Given the description of an element on the screen output the (x, y) to click on. 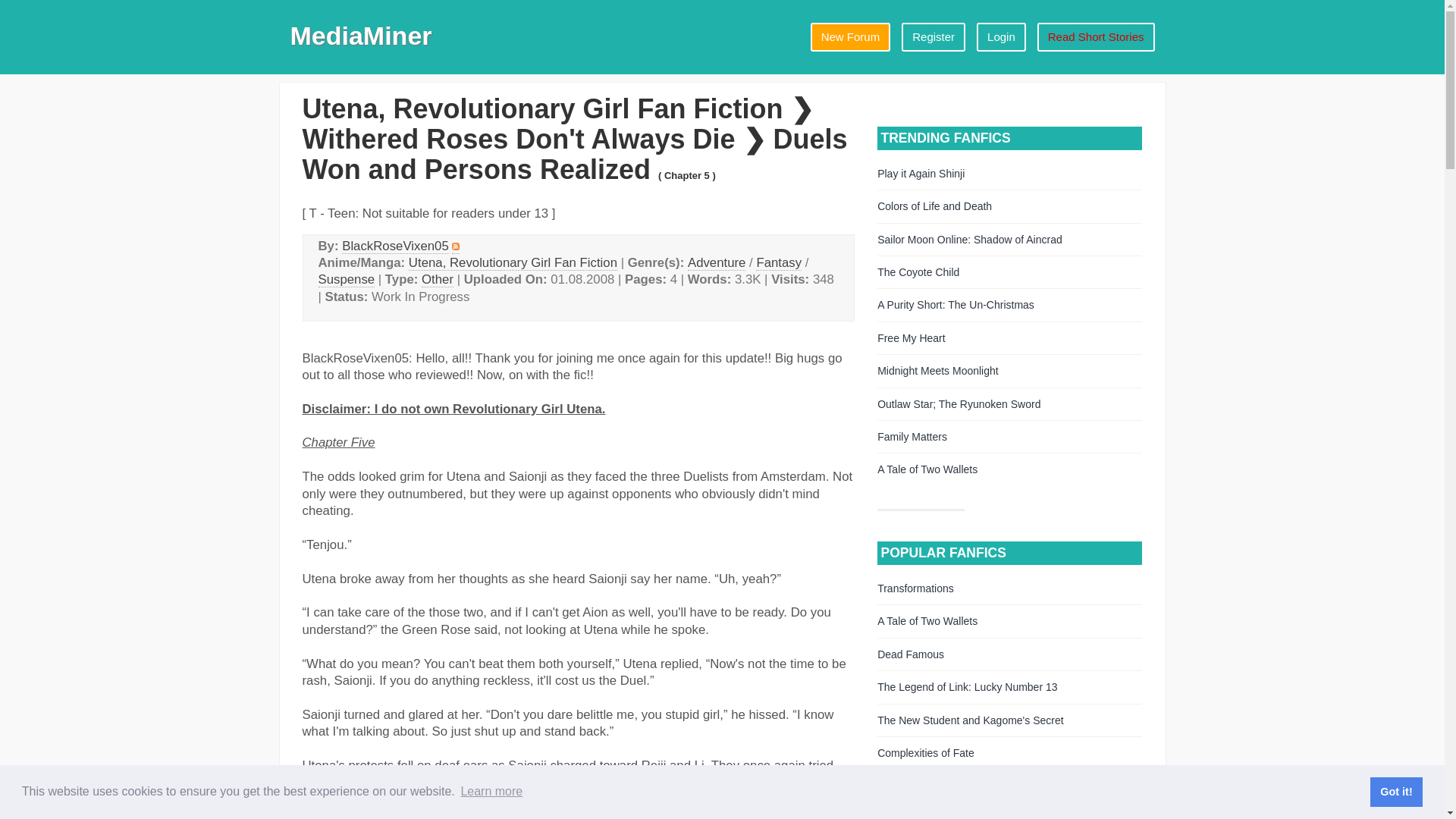
Suspense (346, 279)
Utena, Revolutionary Girl Fan Fiction (513, 263)
Outlaw Star; The Ryunoken Sword (959, 404)
The Legend of Link: Lucky Number 13 (967, 686)
Play it Again Shinji (920, 173)
Adventure (716, 263)
Family Matters (912, 436)
The Coyote Child (918, 272)
Transformations (915, 588)
Learn more (491, 791)
